Given the description of an element on the screen output the (x, y) to click on. 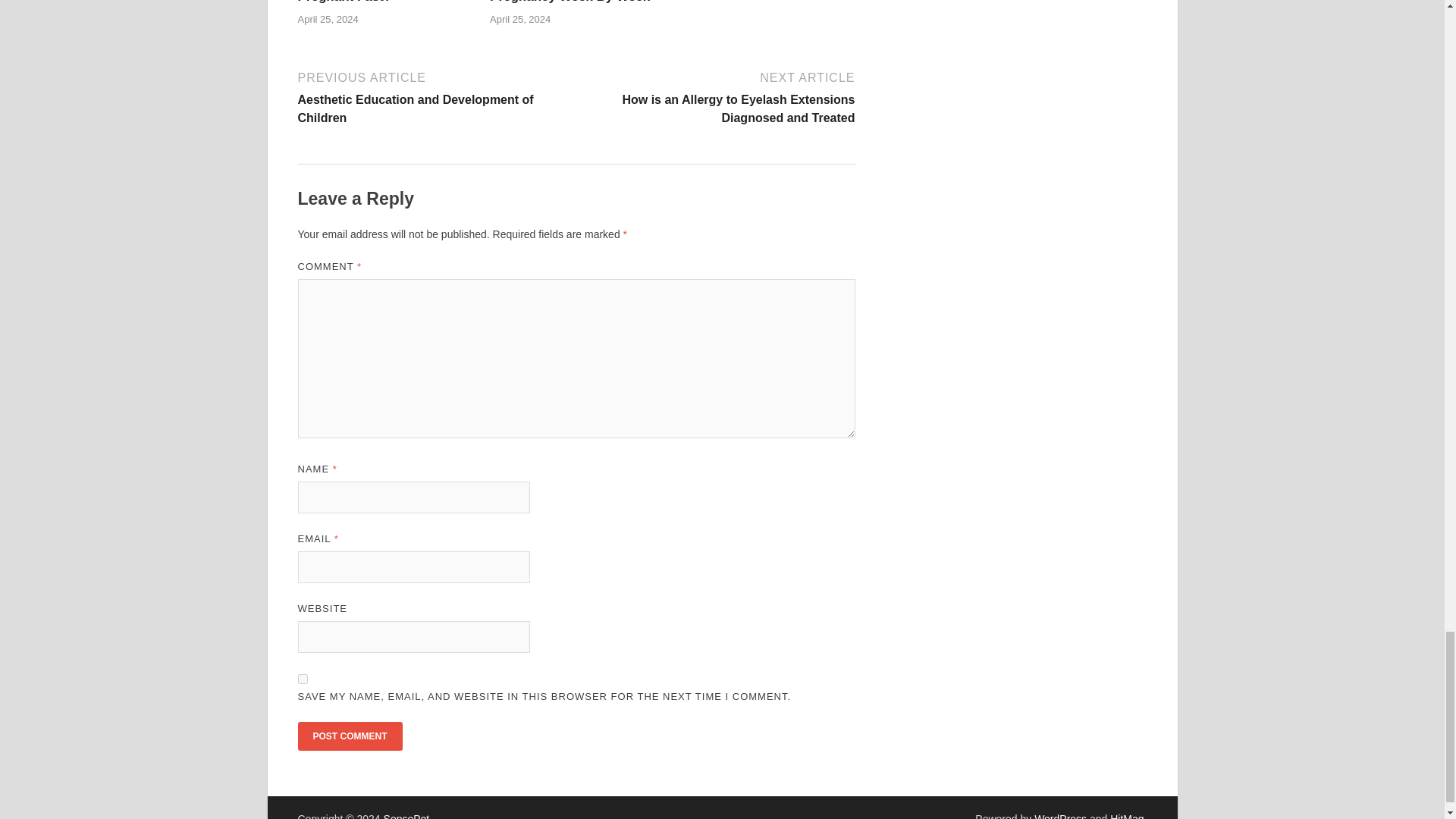
Unforgettable 40 Weeks of Pregnancy Week By Week (569, 2)
yes (302, 678)
10 Easy Tip How To Get Pregnant Fast? (369, 2)
Post Comment (349, 736)
Unforgettable 40 Weeks of Pregnancy Week By Week (569, 2)
10 Easy Tip How To Get Pregnant Fast? (369, 2)
